Given the description of an element on the screen output the (x, y) to click on. 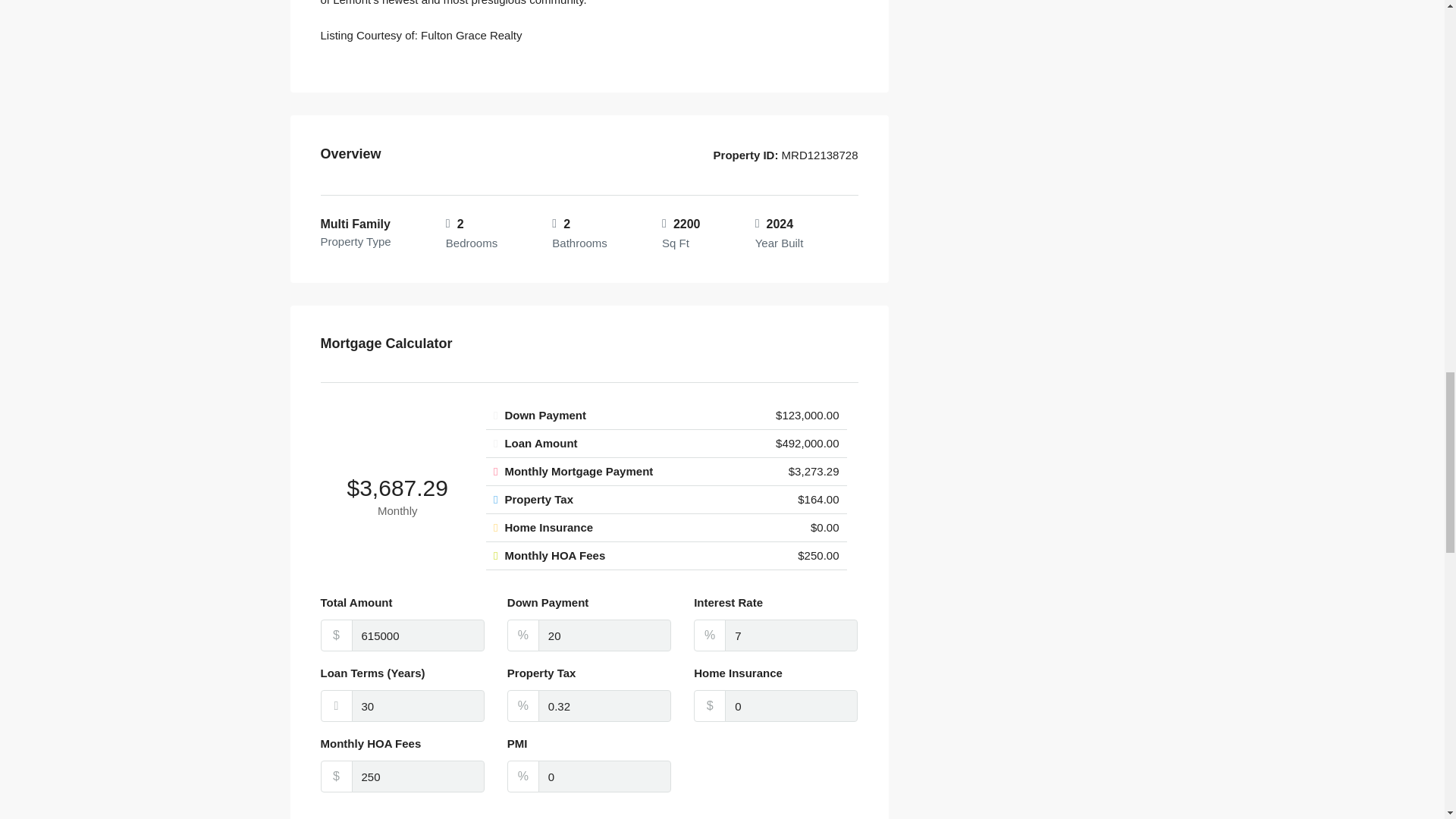
0.32 (604, 705)
7 (791, 635)
30 (418, 705)
250 (418, 776)
0 (791, 705)
0 (604, 776)
20 (604, 635)
615000 (418, 635)
